Given the description of an element on the screen output the (x, y) to click on. 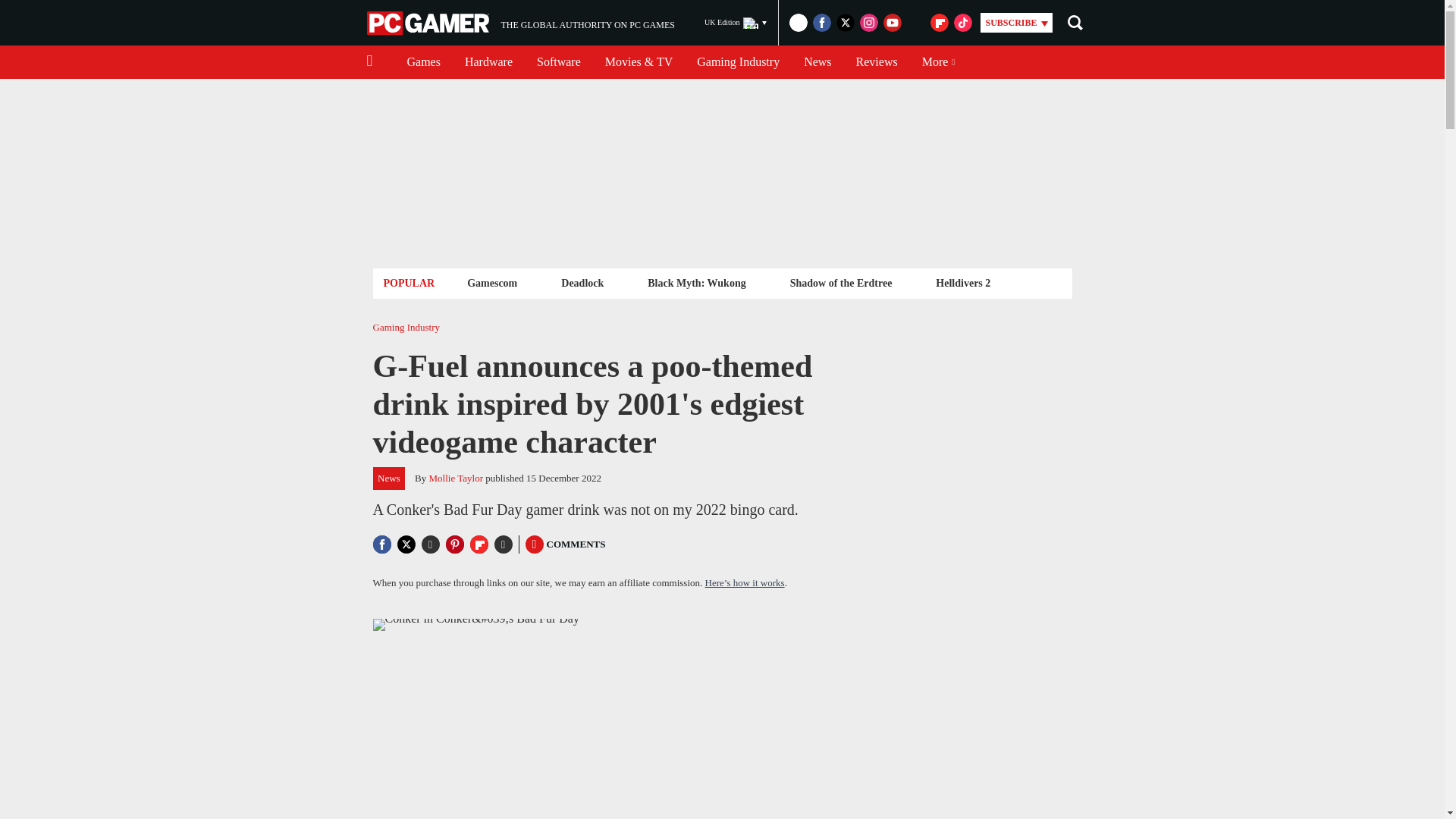
PC Gamer (429, 22)
News (817, 61)
Gaming Industry (738, 61)
Deadlock (582, 282)
Hardware (488, 61)
Reviews (520, 22)
Software (877, 61)
UK Edition (558, 61)
Gamescom (735, 22)
